Given the description of an element on the screen output the (x, y) to click on. 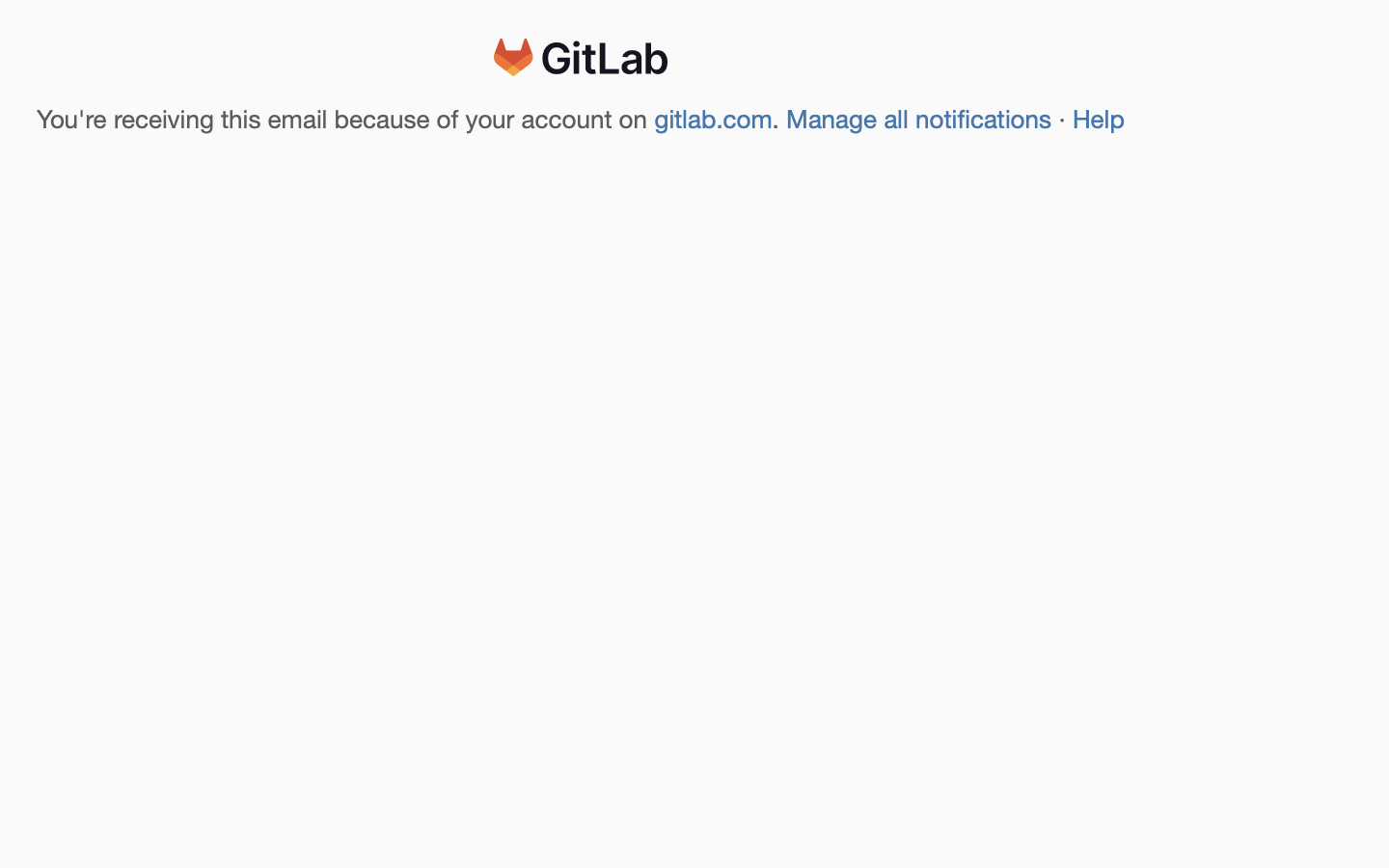
Manage all notifications Element type: AXStaticText (919, 119)
gitlab.com Element type: AXStaticText (713, 119)
· Element type: AXStaticText (1062, 119)
Help Element type: AXStaticText (1098, 119)
. Element type: AXStaticText (779, 119)
